Given the description of an element on the screen output the (x, y) to click on. 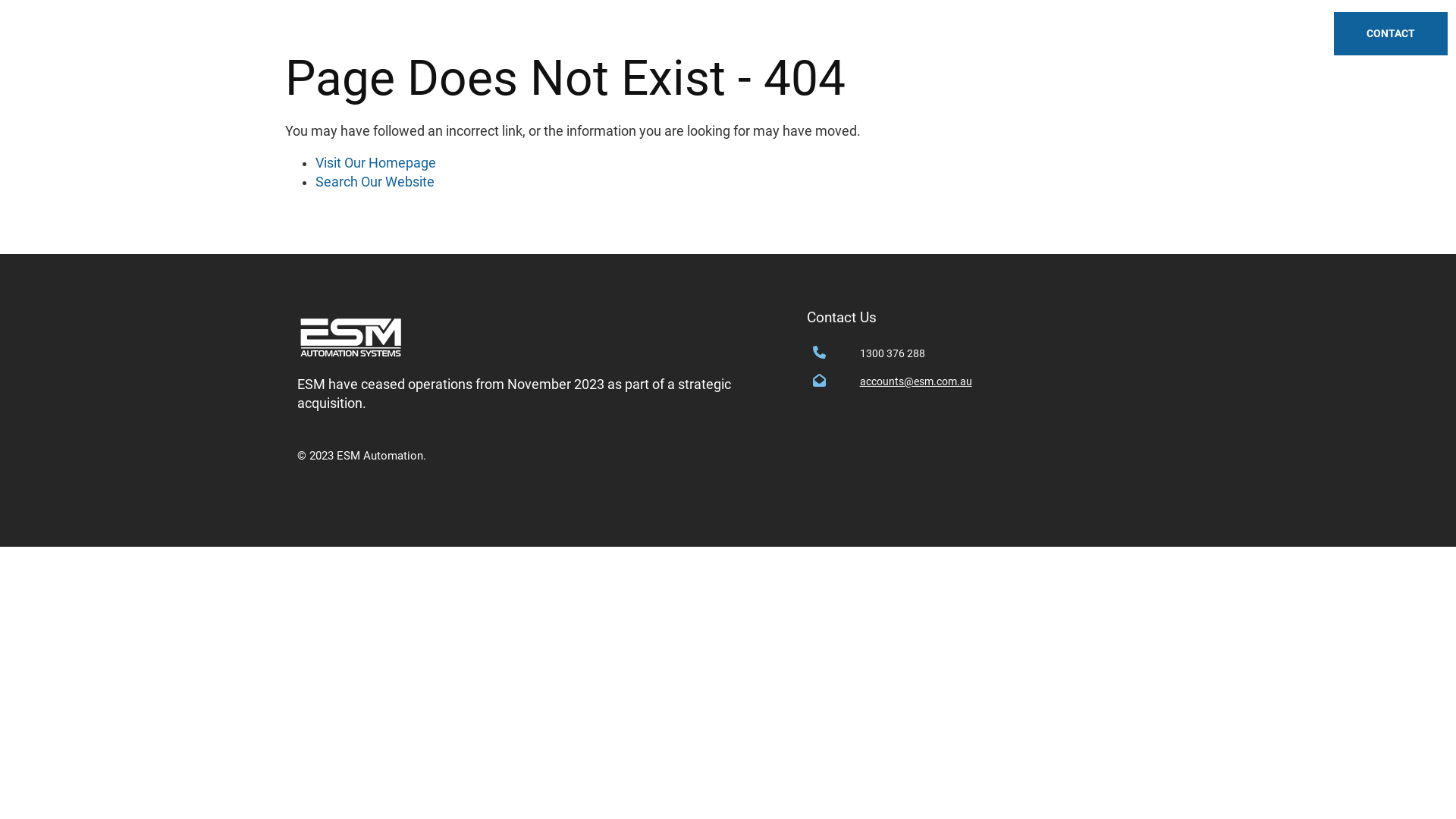
Search Our Website Element type: text (374, 181)
accounts@esm.com.au Element type: text (1008, 381)
Visit Our Homepage Element type: text (375, 162)
1300 376 288 Element type: text (1008, 353)
CONTACT Element type: text (1390, 35)
